Given the description of an element on the screen output the (x, y) to click on. 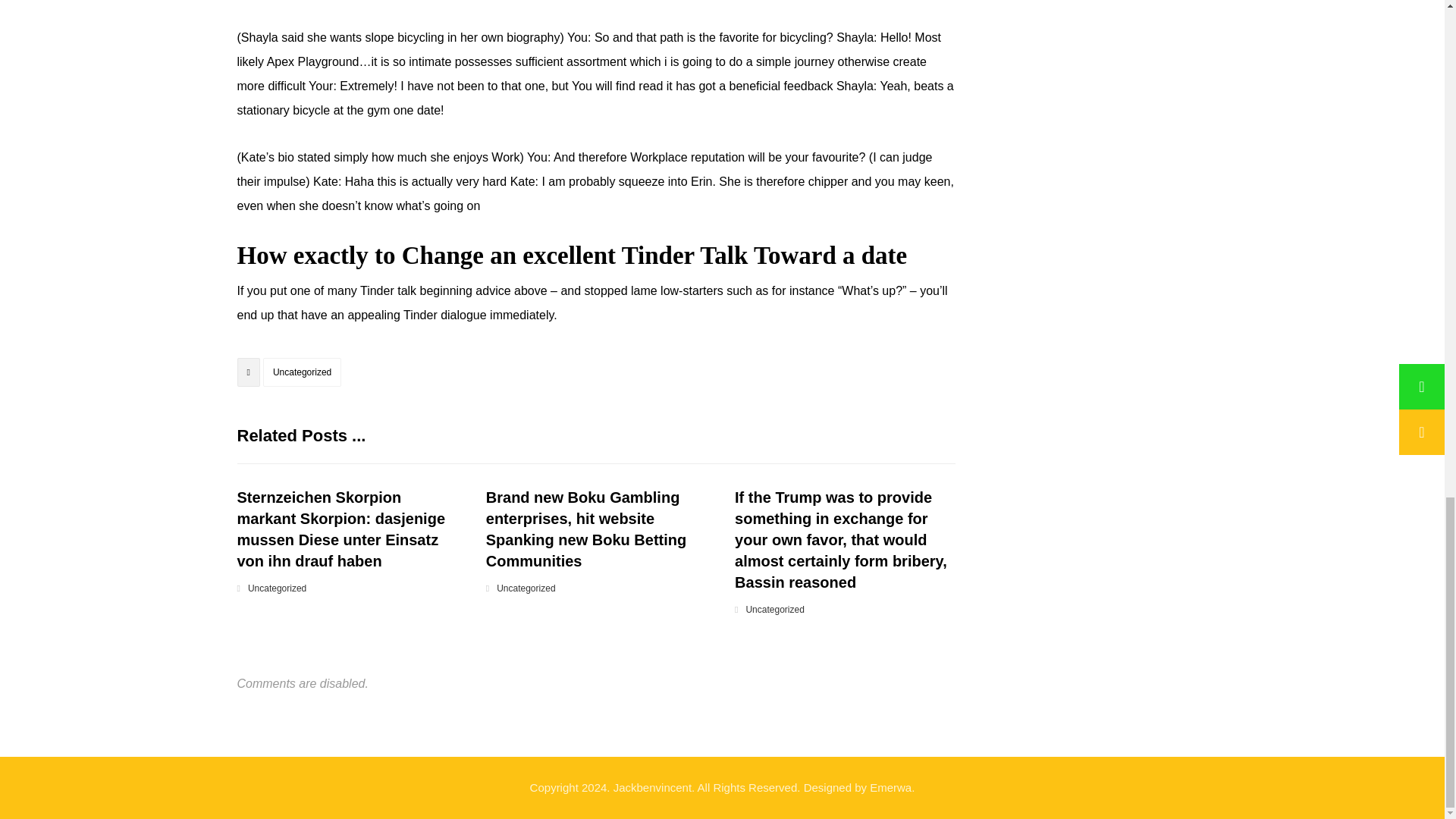
Uncategorized (276, 588)
Uncategorized (774, 609)
Uncategorized (301, 371)
Uncategorized (525, 588)
